Given the description of an element on the screen output the (x, y) to click on. 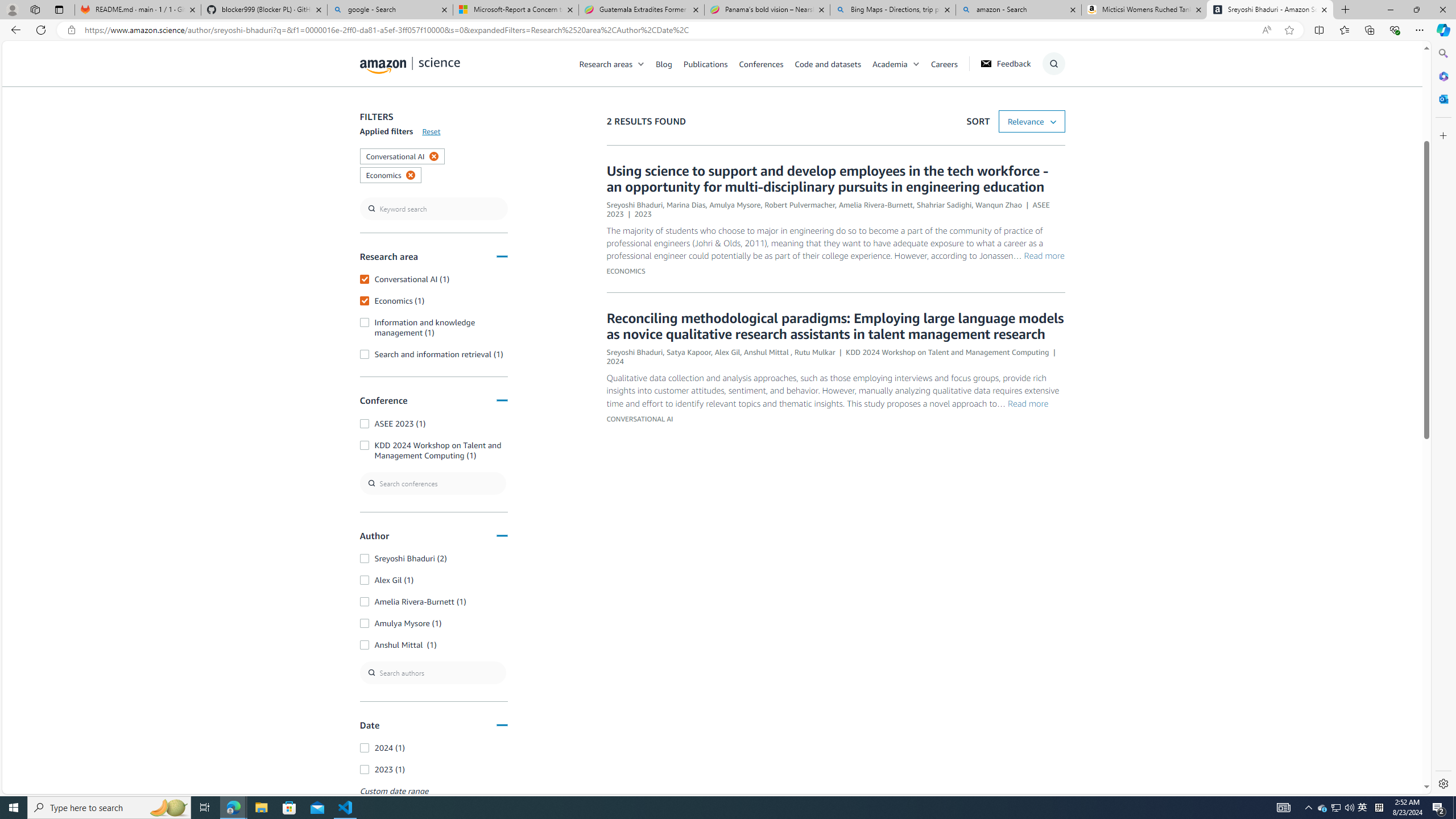
amazon - Search (1018, 9)
Class: icon-magnify (372, 108)
CONVERSATIONAL AI (638, 418)
Open Sub Navigation (916, 63)
Marina Dias (685, 204)
Sreyoshi Bhaduri (633, 352)
